Given the description of an element on the screen output the (x, y) to click on. 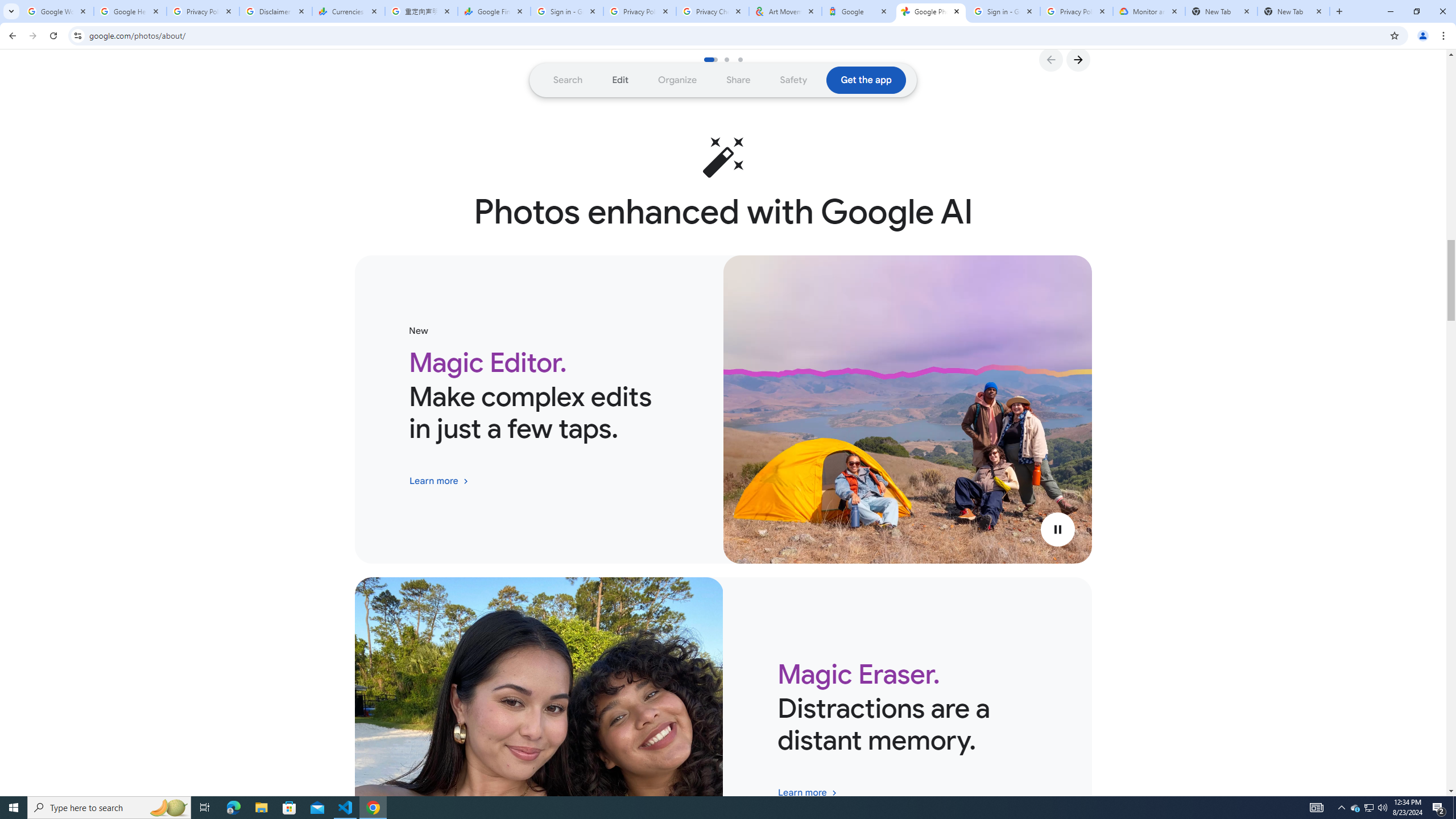
Privacy Checkup (712, 11)
Explore the Magic Editor feature in Google Photos (438, 481)
Google (857, 11)
Go to section: Search (567, 80)
Download the Google Photos app (866, 80)
Go to slide 3 (744, 59)
Go to slide 2 (730, 59)
New Tab (1293, 11)
Play video (1056, 529)
Google Workspace Admin Community (57, 11)
